Given the description of an element on the screen output the (x, y) to click on. 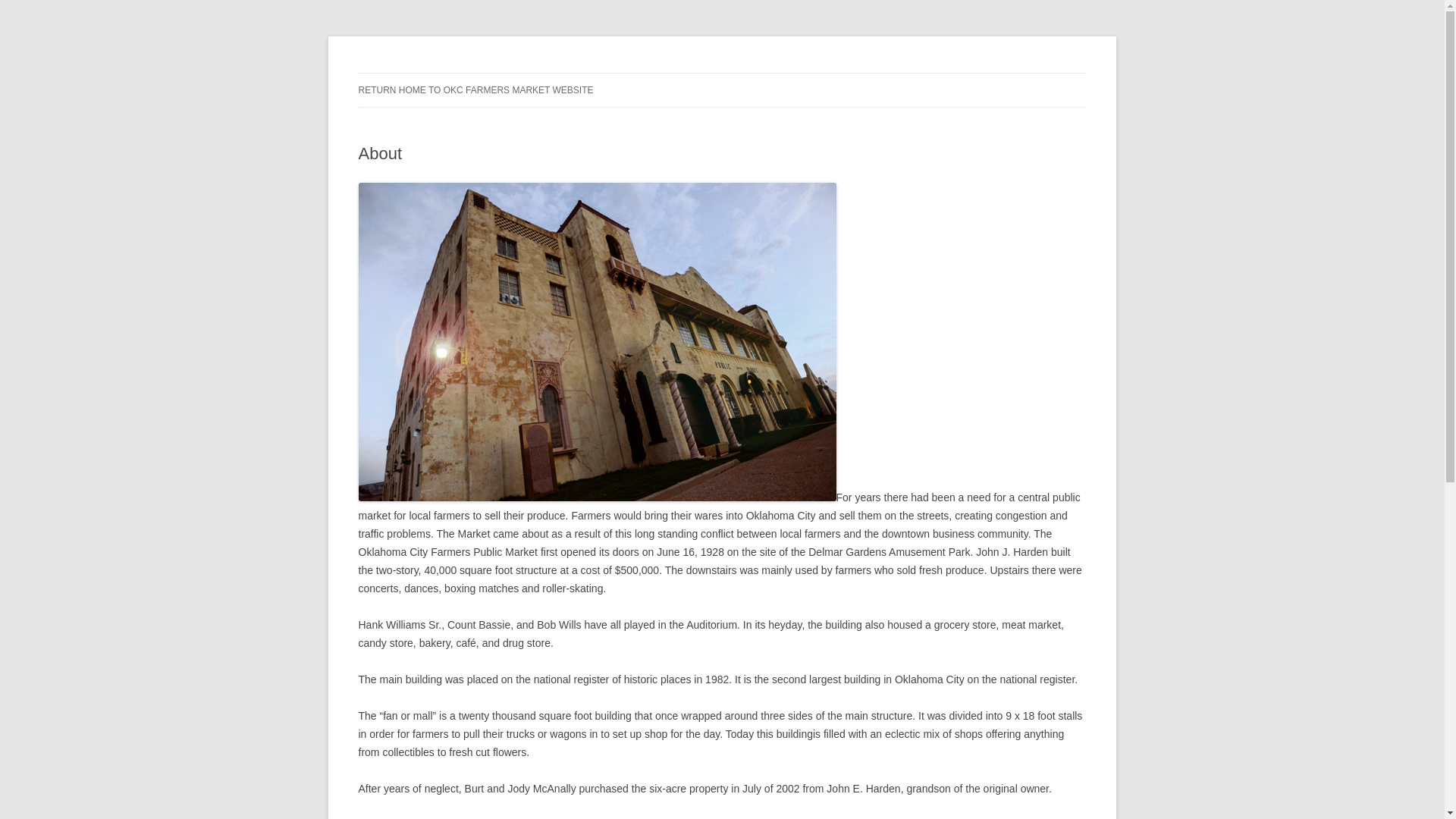
Farmers Market Saturdays (481, 72)
RETURN HOME TO OKC FARMERS MARKET WEBSITE (475, 90)
